Given the description of an element on the screen output the (x, y) to click on. 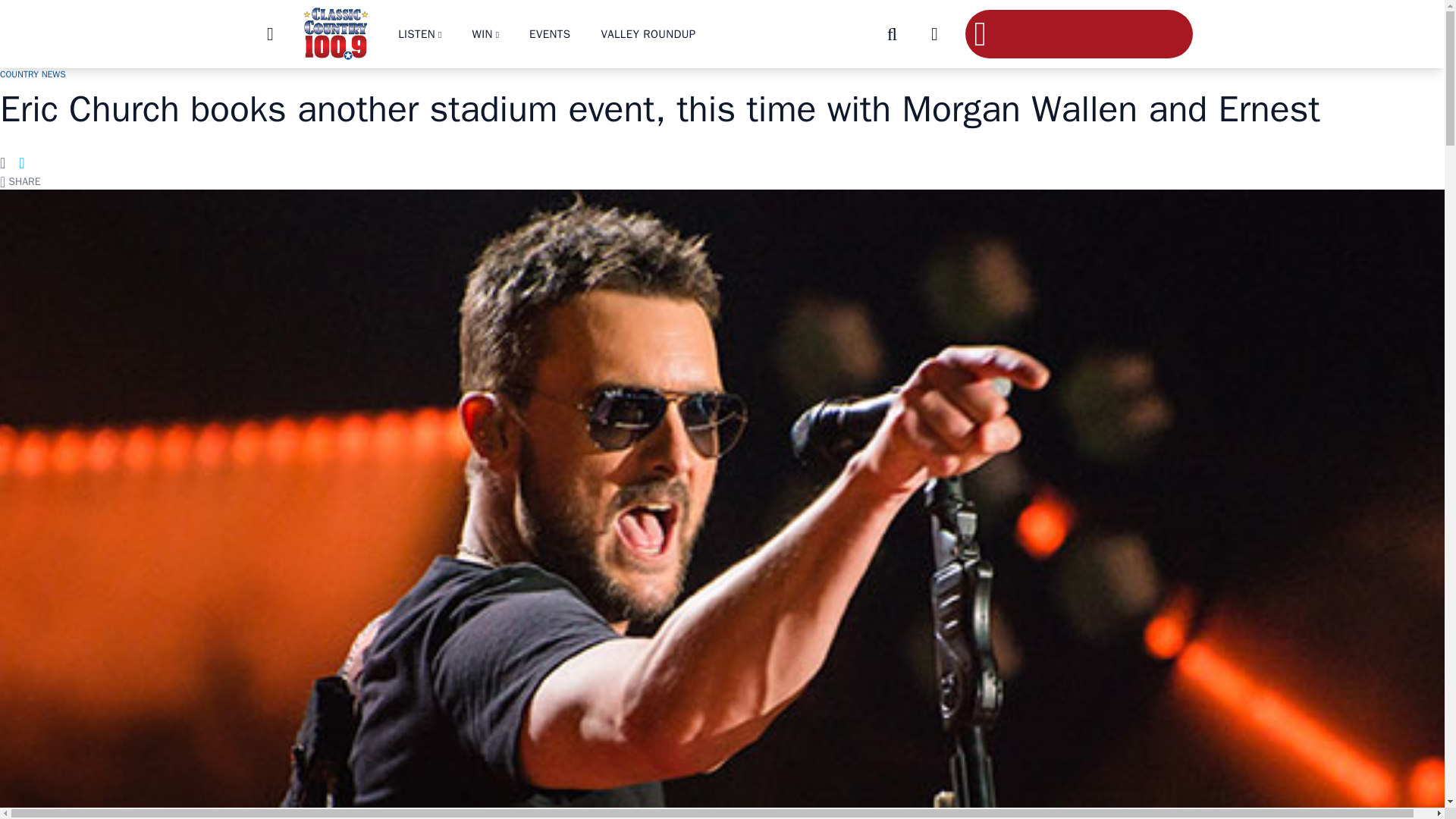
Classic Country 100.9 (335, 33)
VALLEY ROUNDUP (647, 33)
